Given the description of an element on the screen output the (x, y) to click on. 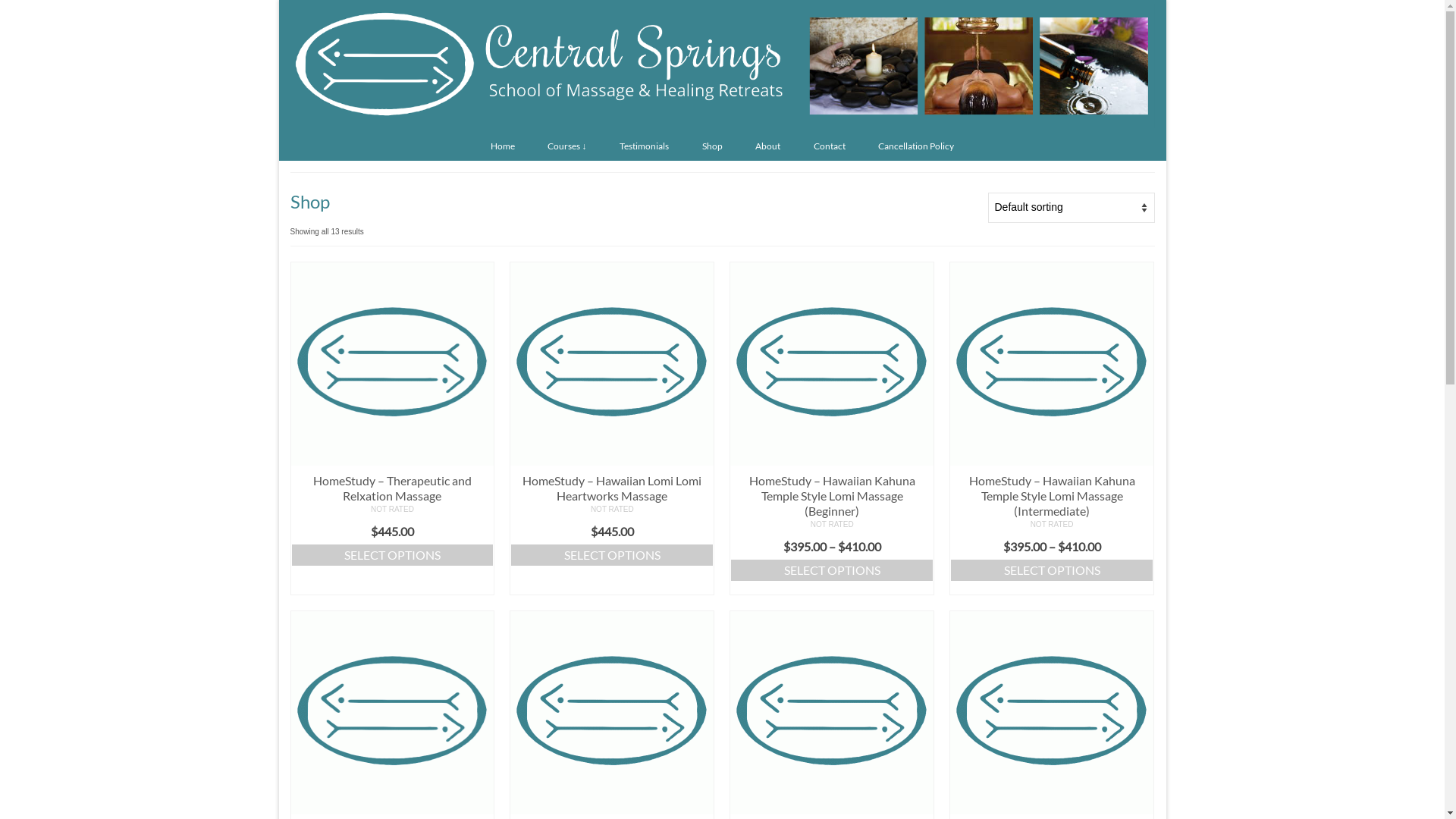
Shop Element type: text (712, 145)
Contact Element type: text (829, 145)
Home Element type: text (502, 145)
SELECT OPTIONS Element type: text (1051, 569)
SELECT OPTIONS Element type: text (611, 554)
SELECT OPTIONS Element type: text (831, 569)
About Element type: text (767, 145)
Cancellation Policy Element type: text (915, 145)
SELECT OPTIONS Element type: text (392, 554)
Testimonials Element type: text (644, 145)
